Given the description of an element on the screen output the (x, y) to click on. 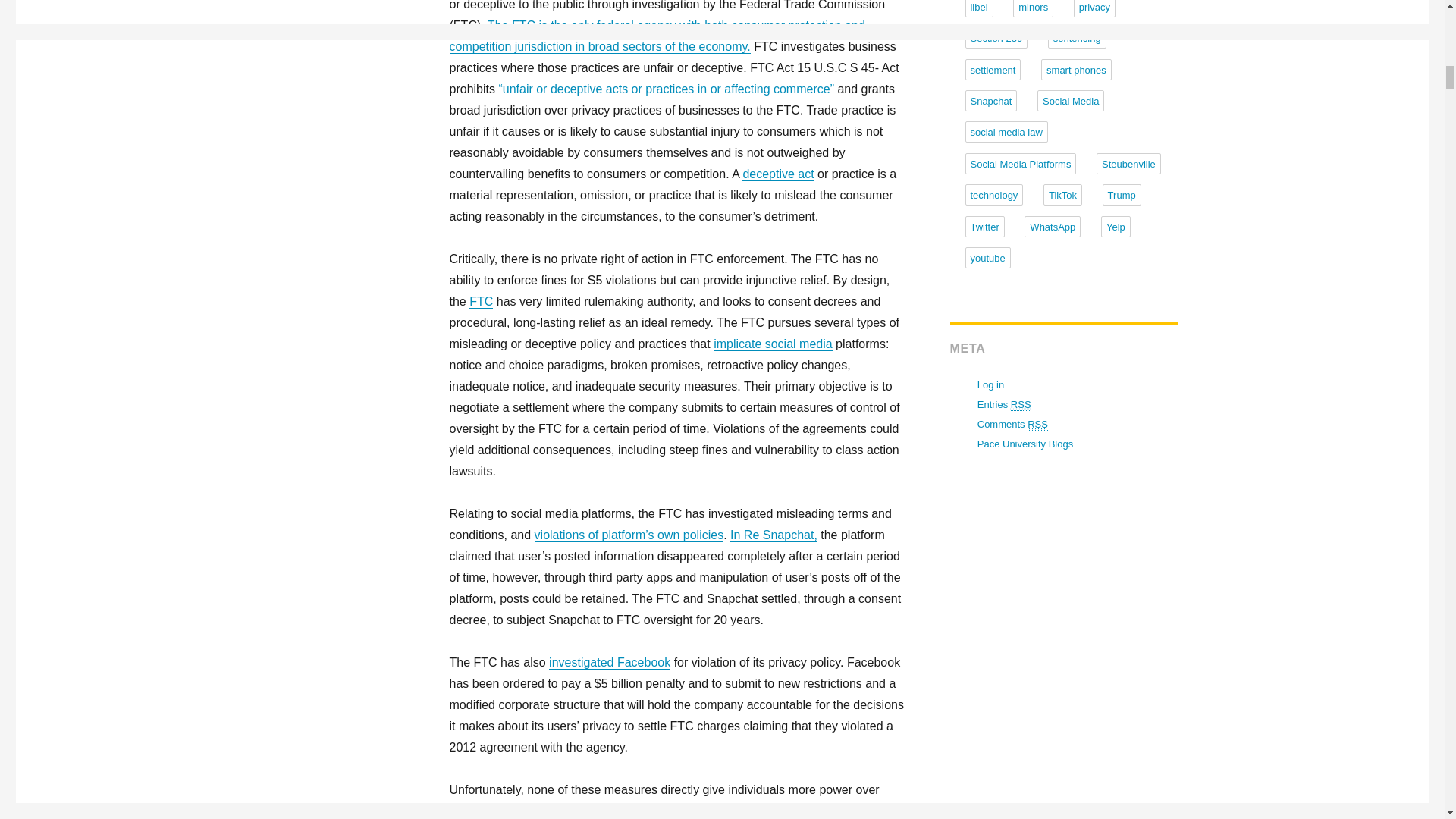
Syndicate this site using RSS 2.0 (1003, 404)
implicate social media (772, 343)
FTC (480, 300)
Really Simple Syndication (1037, 424)
deceptive act (777, 173)
investigated Facebook (608, 662)
The latest comments to all posts in RSS (1012, 424)
Really Simple Syndication (1020, 404)
In Re Snapchat, (773, 534)
Powered by Pace University Blogs (1024, 443)
